Given the description of an element on the screen output the (x, y) to click on. 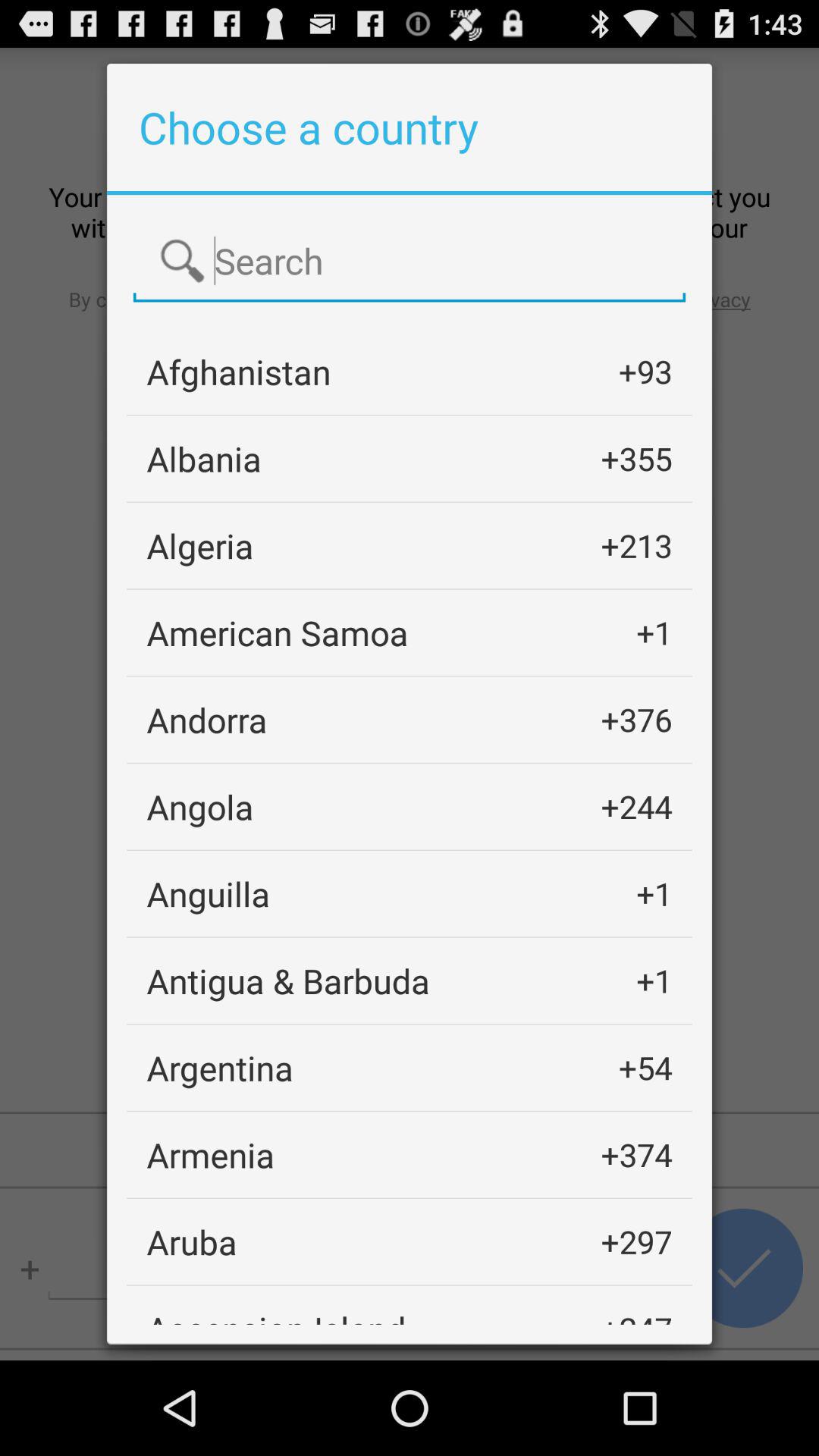
press the item below the +297 (636, 1314)
